Given the description of an element on the screen output the (x, y) to click on. 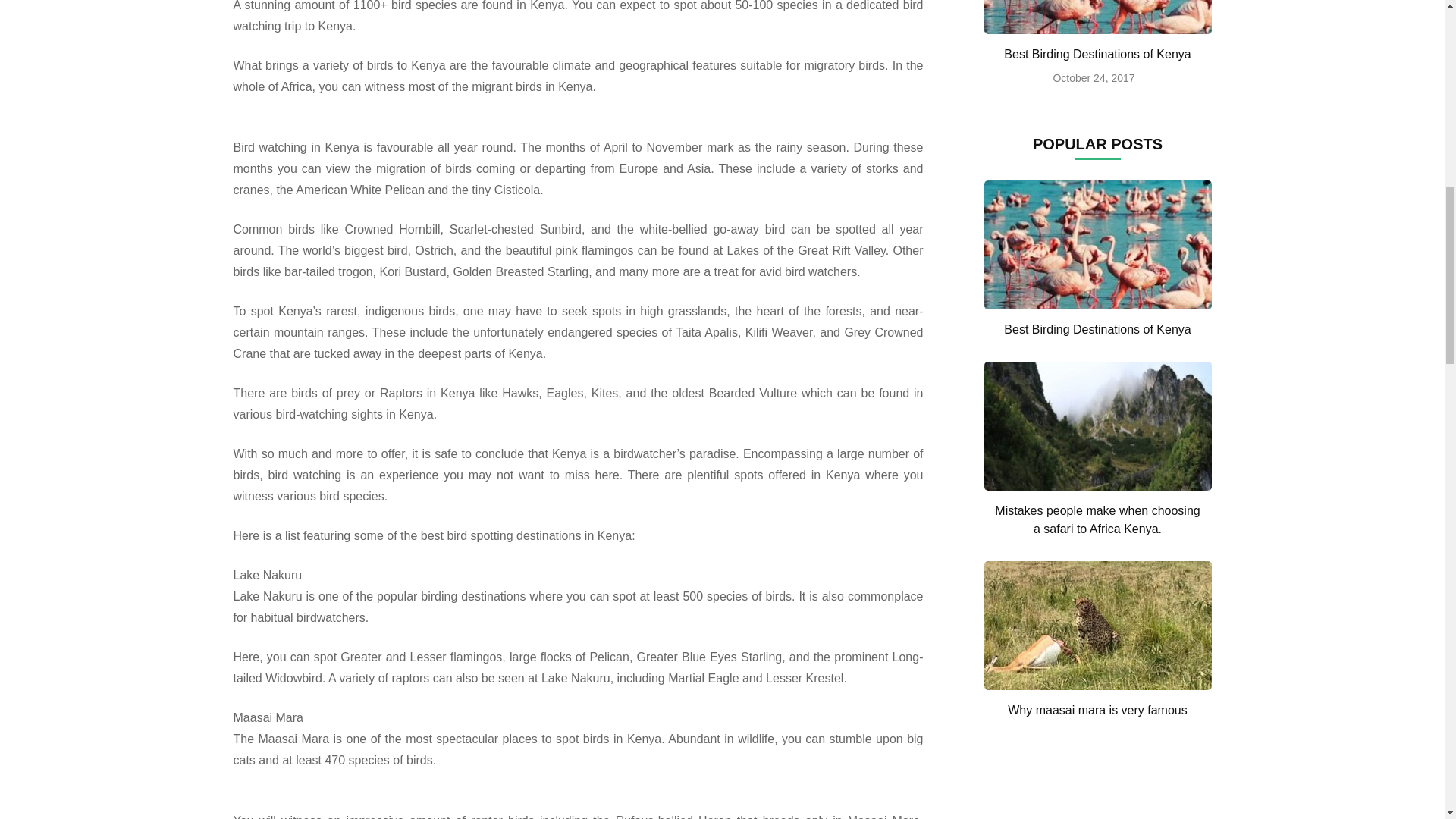
Cropped Lake Nakuru One 300x170 (1097, 244)
Cropped Lake Nakuru One 300x170 (1097, 17)
Cropped Mountains G98dbe08a5 1280 300x170 (1097, 425)
Mara Five 300x170 (1097, 625)
